Given the description of an element on the screen output the (x, y) to click on. 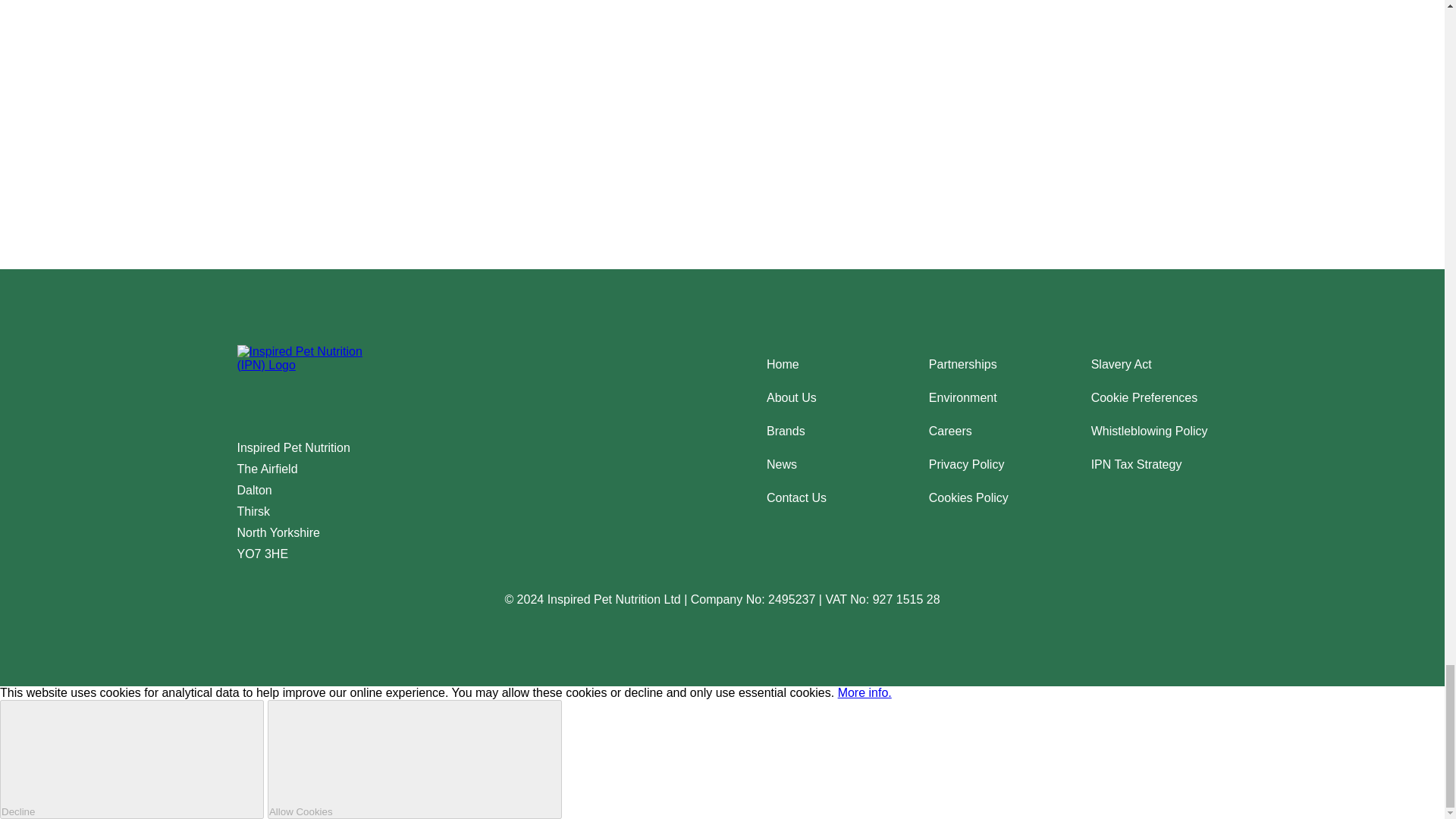
Privacy Policy (966, 463)
News (781, 463)
Contact Us (797, 497)
Brands (786, 431)
Environment (962, 397)
Cookies Policy (968, 497)
Home (783, 364)
Partnerships (962, 364)
About Us (791, 397)
Slavery Act (1120, 364)
